Given the description of an element on the screen output the (x, y) to click on. 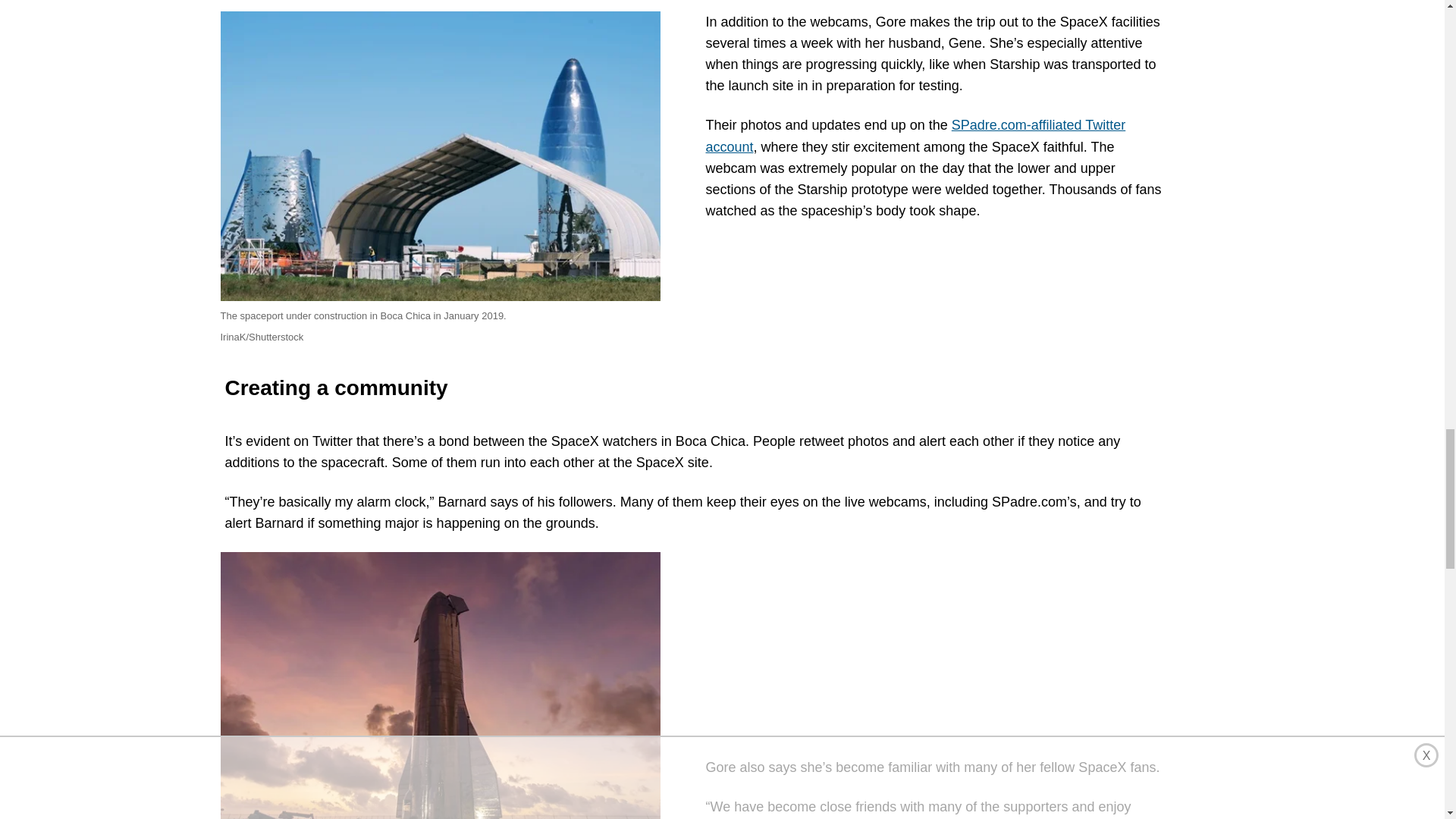
3rd party ad content (937, 647)
